Given the description of an element on the screen output the (x, y) to click on. 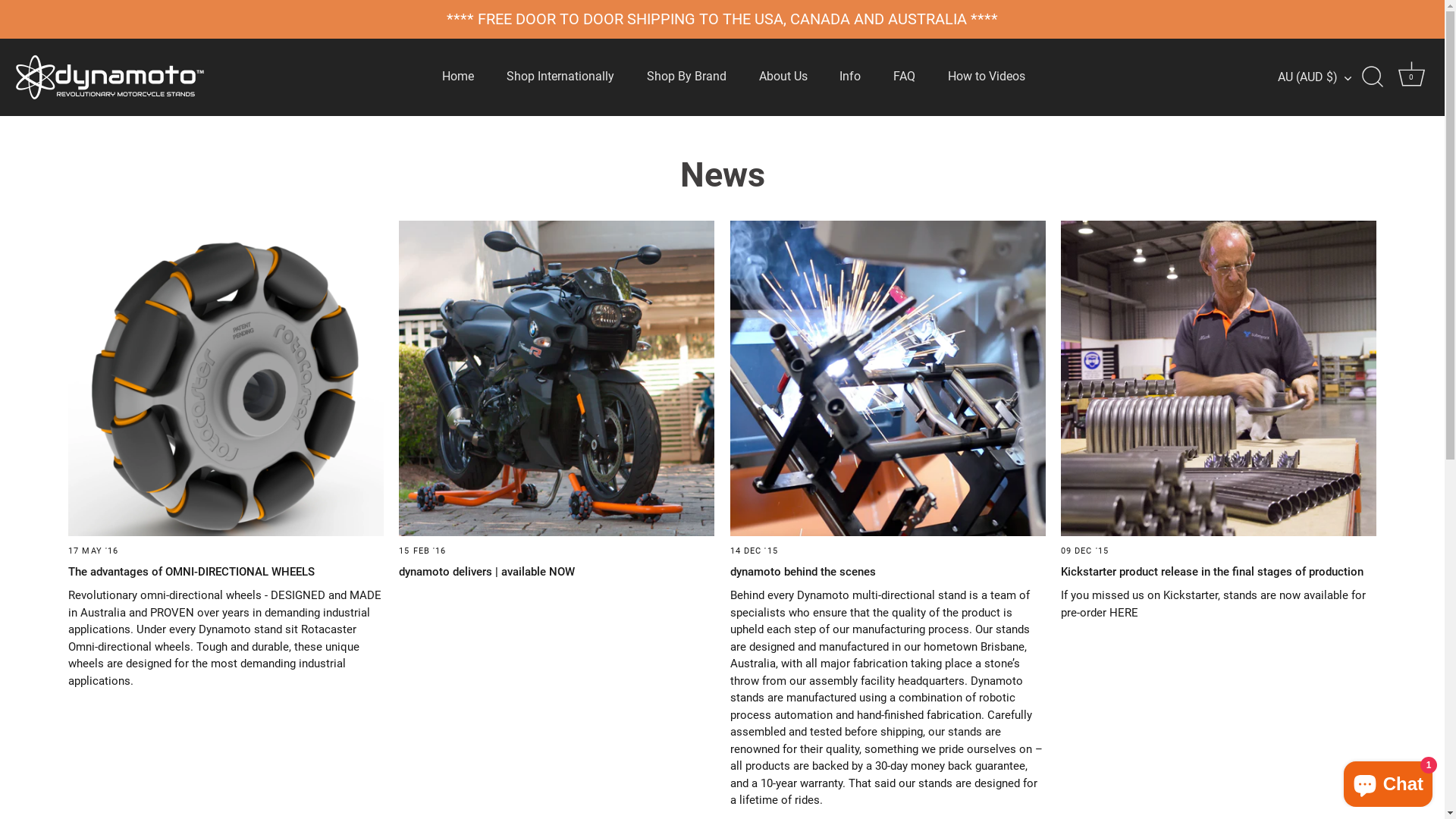
Shop Internationally Element type: text (559, 76)
AU (AUD $) Element type: text (1322, 76)
Home Element type: text (457, 76)
Shopify online store chat Element type: hover (1388, 780)
FAQ Element type: text (904, 76)
Info Element type: text (850, 76)
Shop By Brand Element type: text (685, 76)
15 FEB '16
dynamoto delivers | available NOW Element type: text (556, 403)
Cart
0 Element type: text (1410, 77)
About Us Element type: text (782, 76)
How to Videos Element type: text (986, 76)
